Given the description of an element on the screen output the (x, y) to click on. 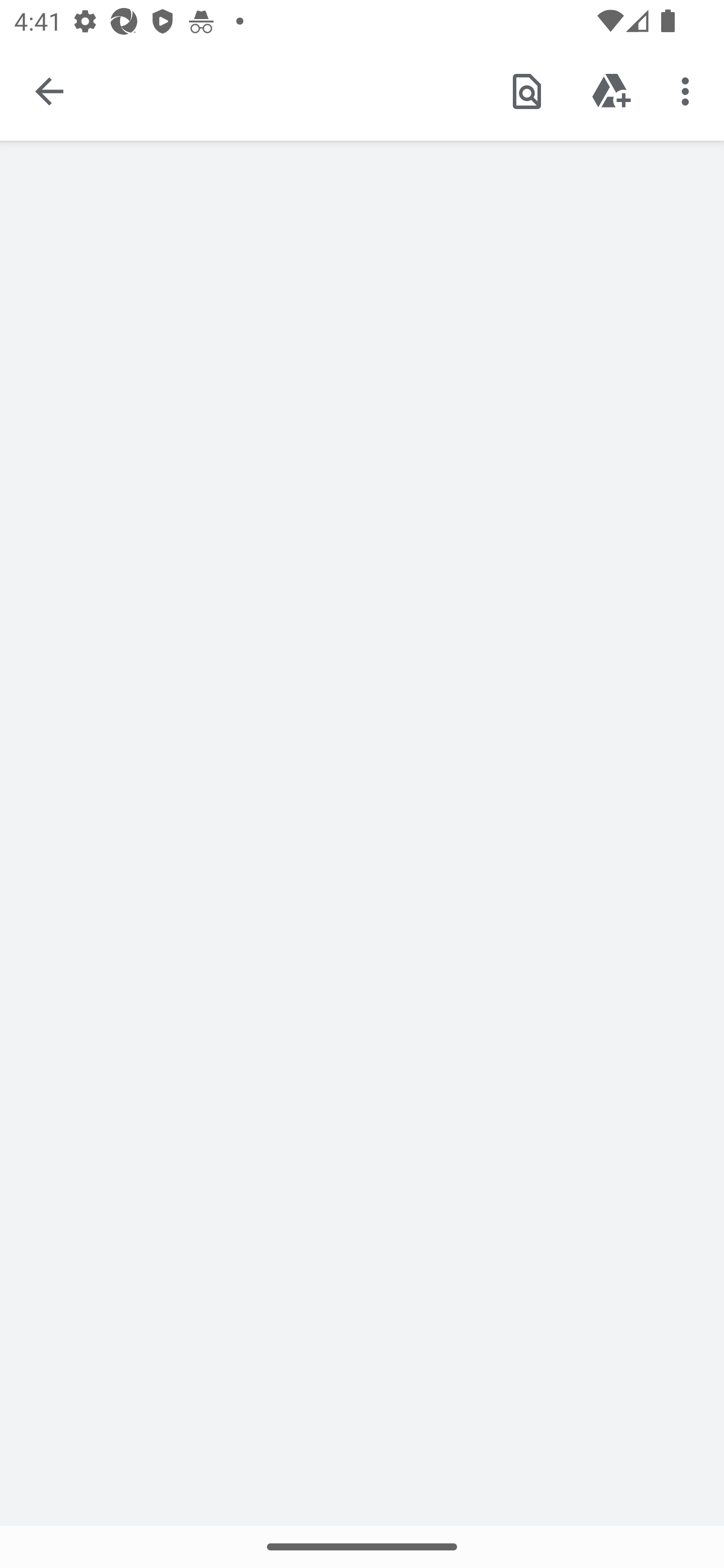
Find (526, 90)
Add to Drive (611, 90)
More options (688, 90)
